Given the description of an element on the screen output the (x, y) to click on. 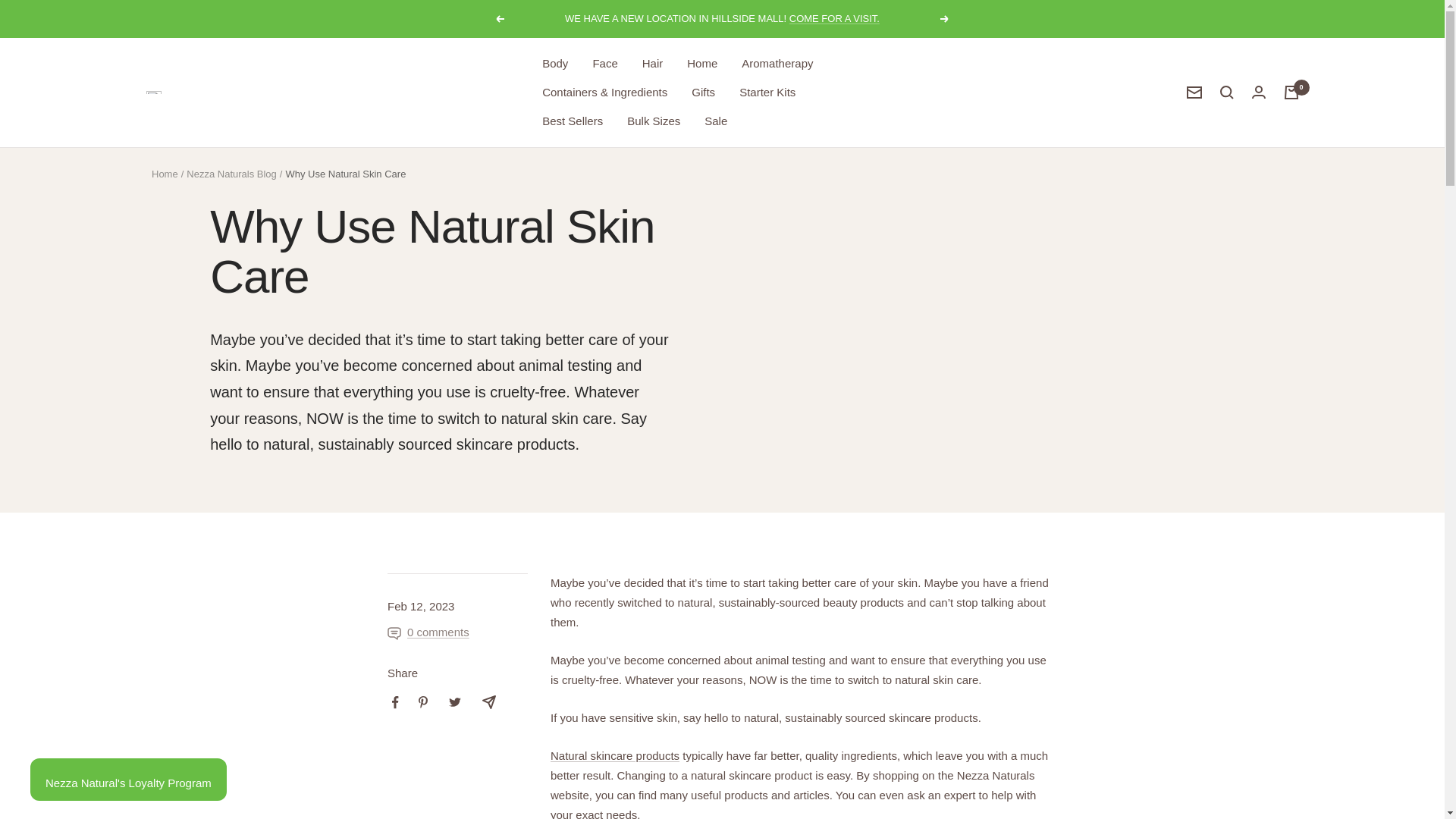
Best Sellers (571, 121)
Nezza Naturals (152, 92)
Face (604, 63)
0 comments (427, 632)
Bulk Sizes (653, 121)
Sale (715, 121)
Starter Kits (766, 92)
0 (1291, 92)
COME FOR A VISIT. (834, 18)
Hair (652, 63)
